Given the description of an element on the screen output the (x, y) to click on. 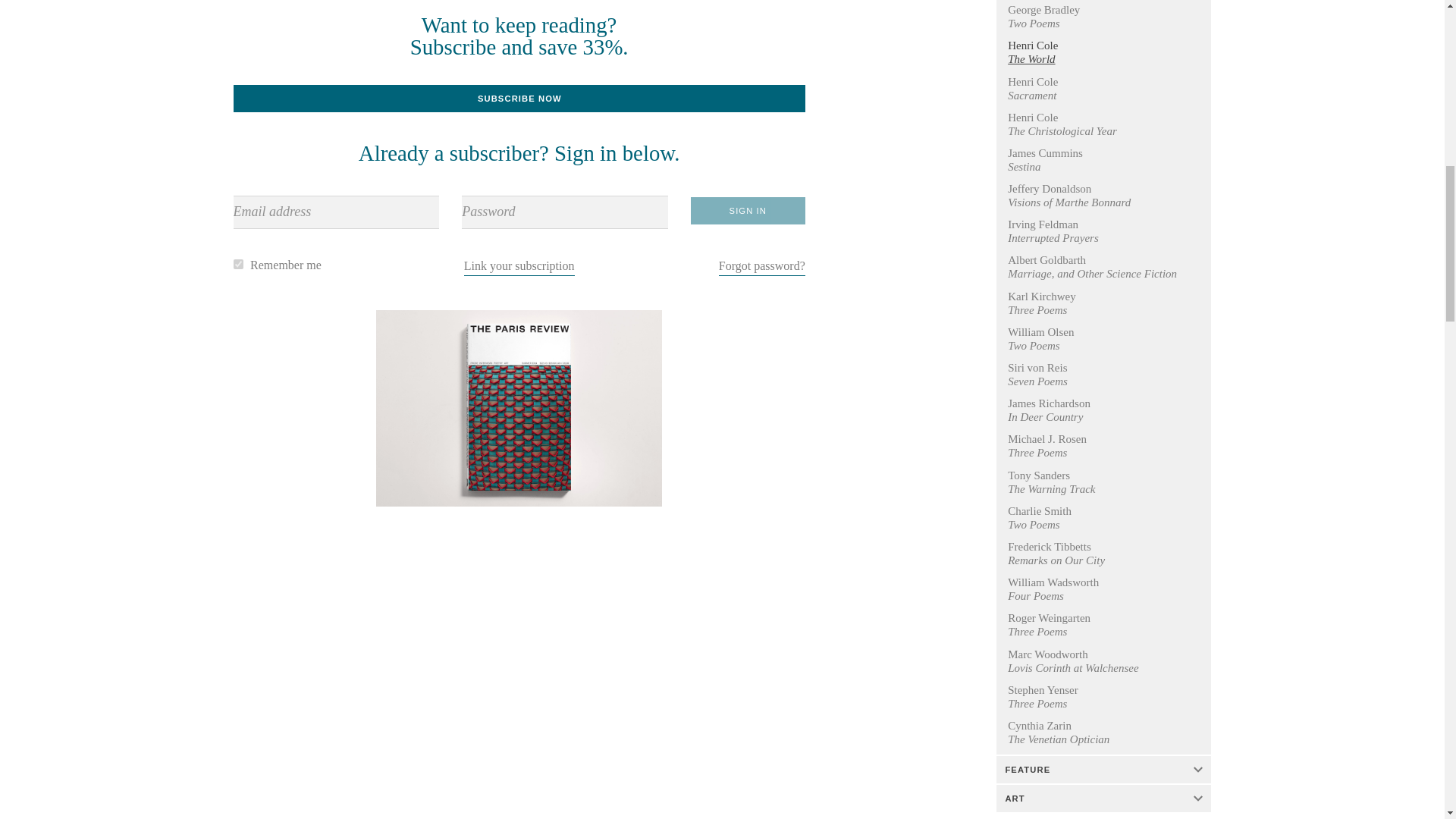
Sign In (747, 210)
remember (237, 264)
